Given the description of an element on the screen output the (x, y) to click on. 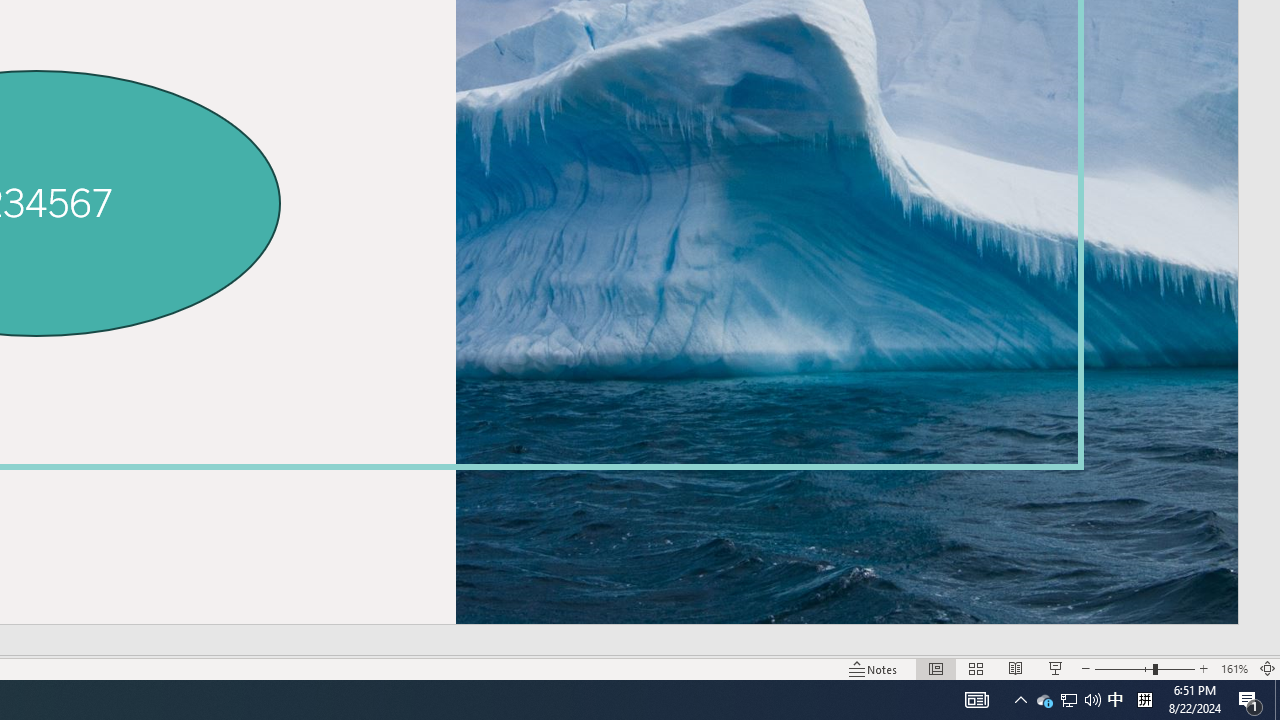
Zoom 161% (1234, 668)
